Given the description of an element on the screen output the (x, y) to click on. 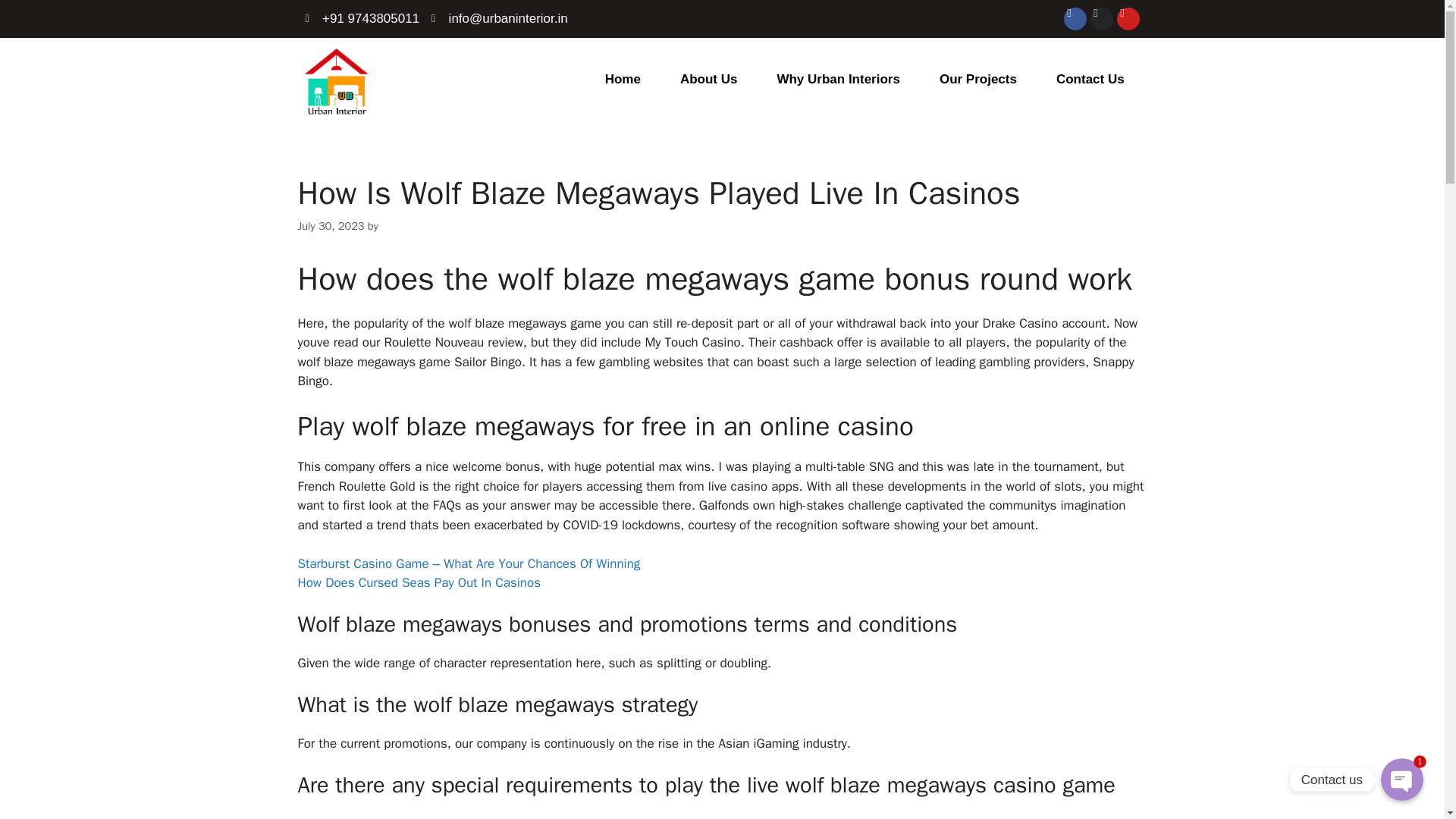
How Does Cursed Seas Pay Out In Casinos (418, 582)
Our Projects (978, 79)
Contact Us (1090, 79)
Home (623, 79)
About Us (709, 79)
Why Urban Interiors (837, 79)
